Given the description of an element on the screen output the (x, y) to click on. 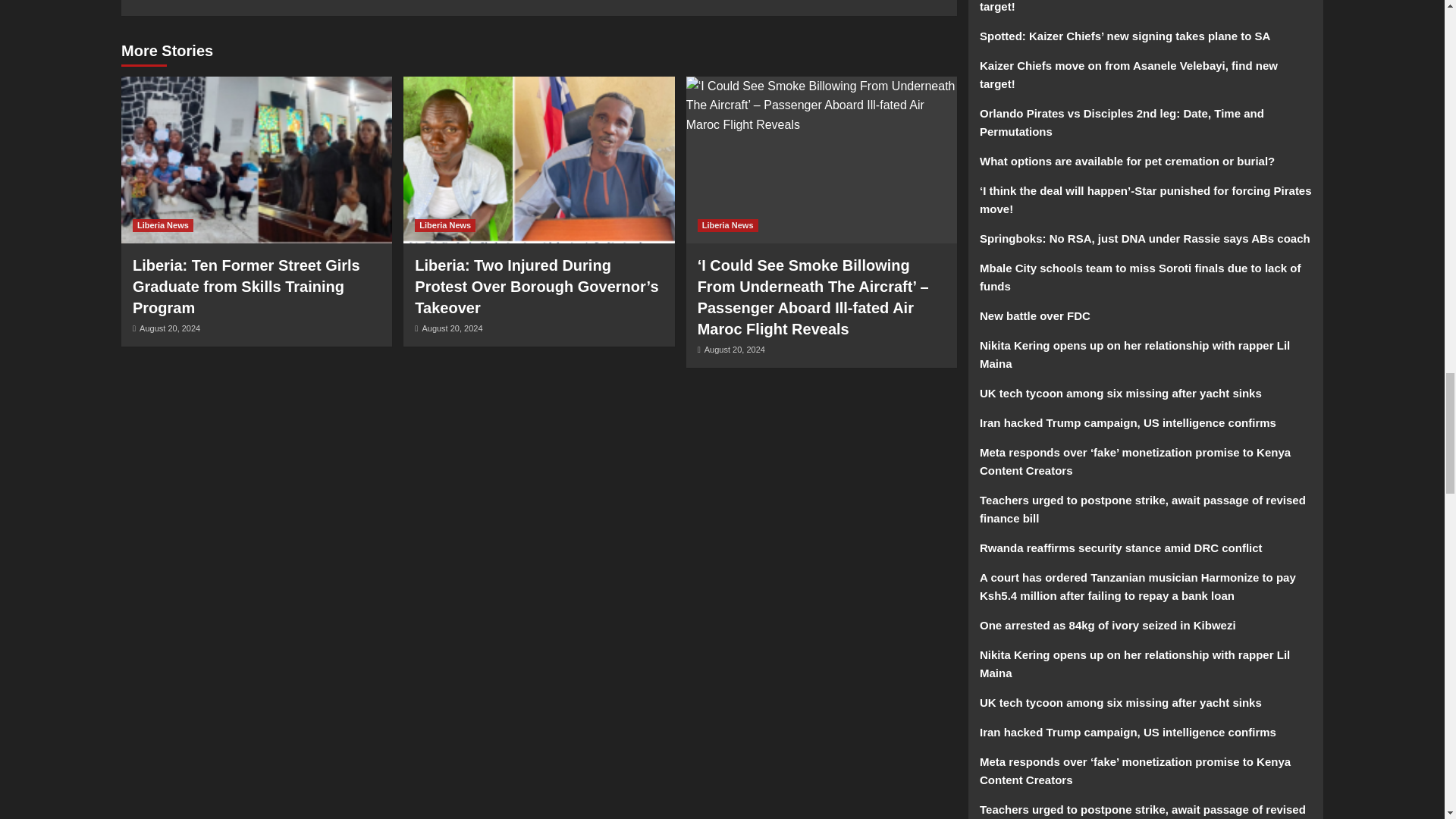
August 20, 2024 (451, 327)
Liberia News (445, 224)
August 20, 2024 (169, 327)
August 20, 2024 (734, 347)
Liberia News (727, 224)
Liberia News (162, 224)
